Given the description of an element on the screen output the (x, y) to click on. 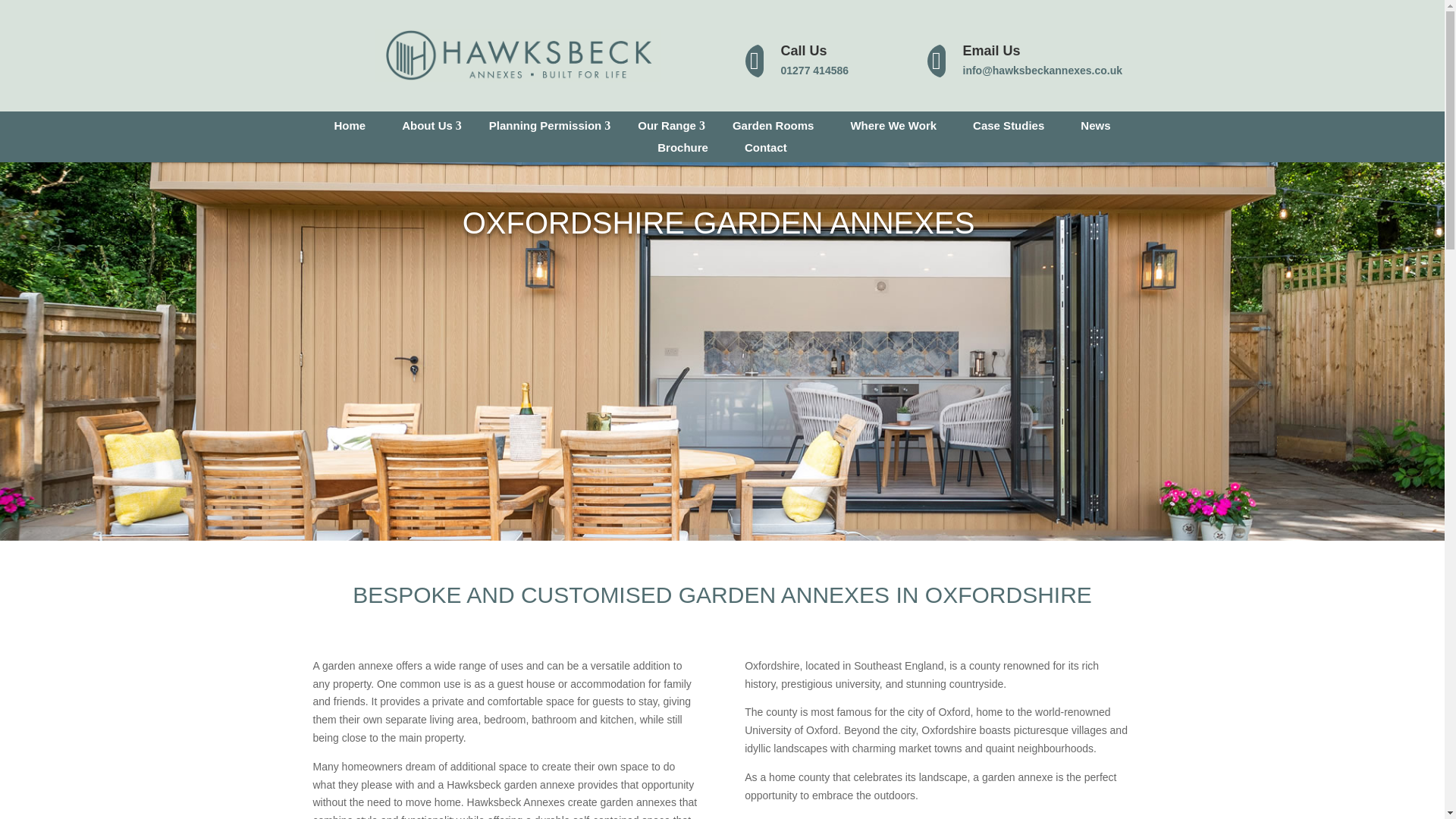
Where We Work (892, 125)
Contact (765, 147)
01277 414586 (814, 70)
About Us (427, 125)
logo800 (517, 54)
Home (349, 125)
News (1095, 125)
Our Range (666, 125)
Garden Rooms (773, 125)
Planning Permission (545, 125)
